Given the description of an element on the screen output the (x, y) to click on. 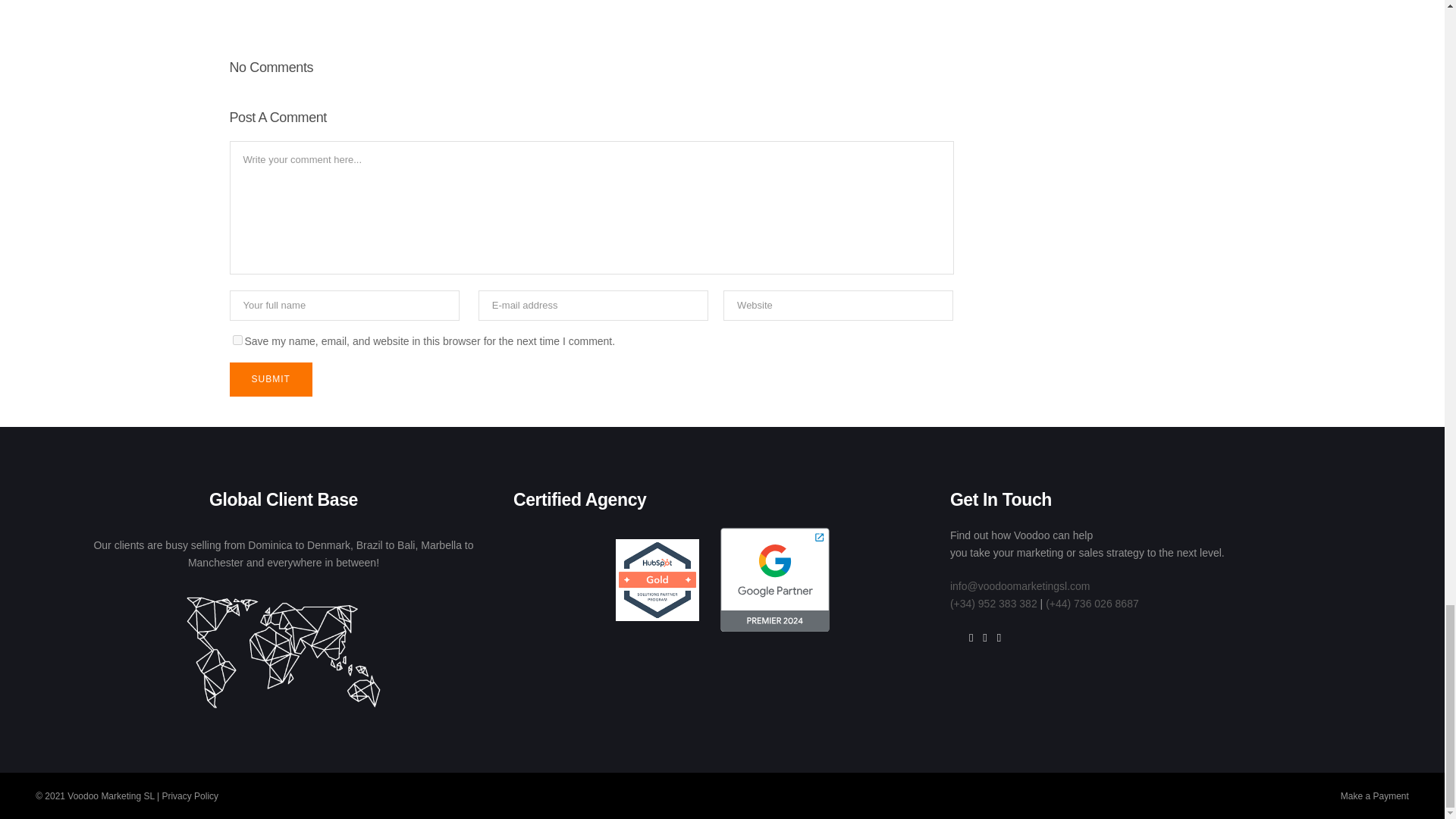
yes (236, 339)
Submit (269, 379)
